Given the description of an element on the screen output the (x, y) to click on. 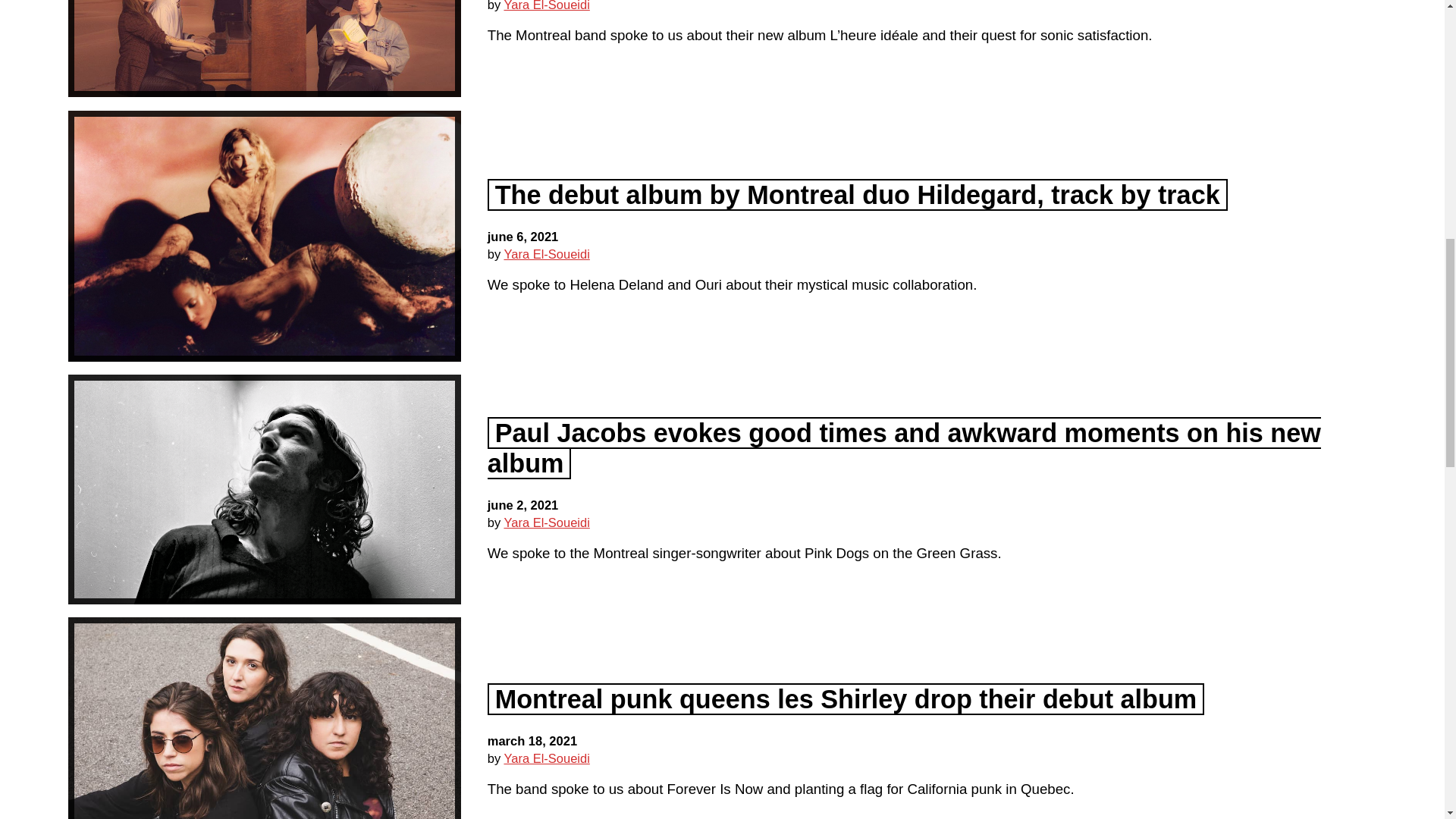
Montreal punk queens les Shirley drop their debut album (846, 698)
Yara El-Soueidi (546, 5)
Yara El-Soueidi (546, 522)
Yara El-Soueidi (546, 254)
The debut album by Montreal duo Hildegard, track by track (857, 194)
Yara El-Soueidi (546, 757)
